Given the description of an element on the screen output the (x, y) to click on. 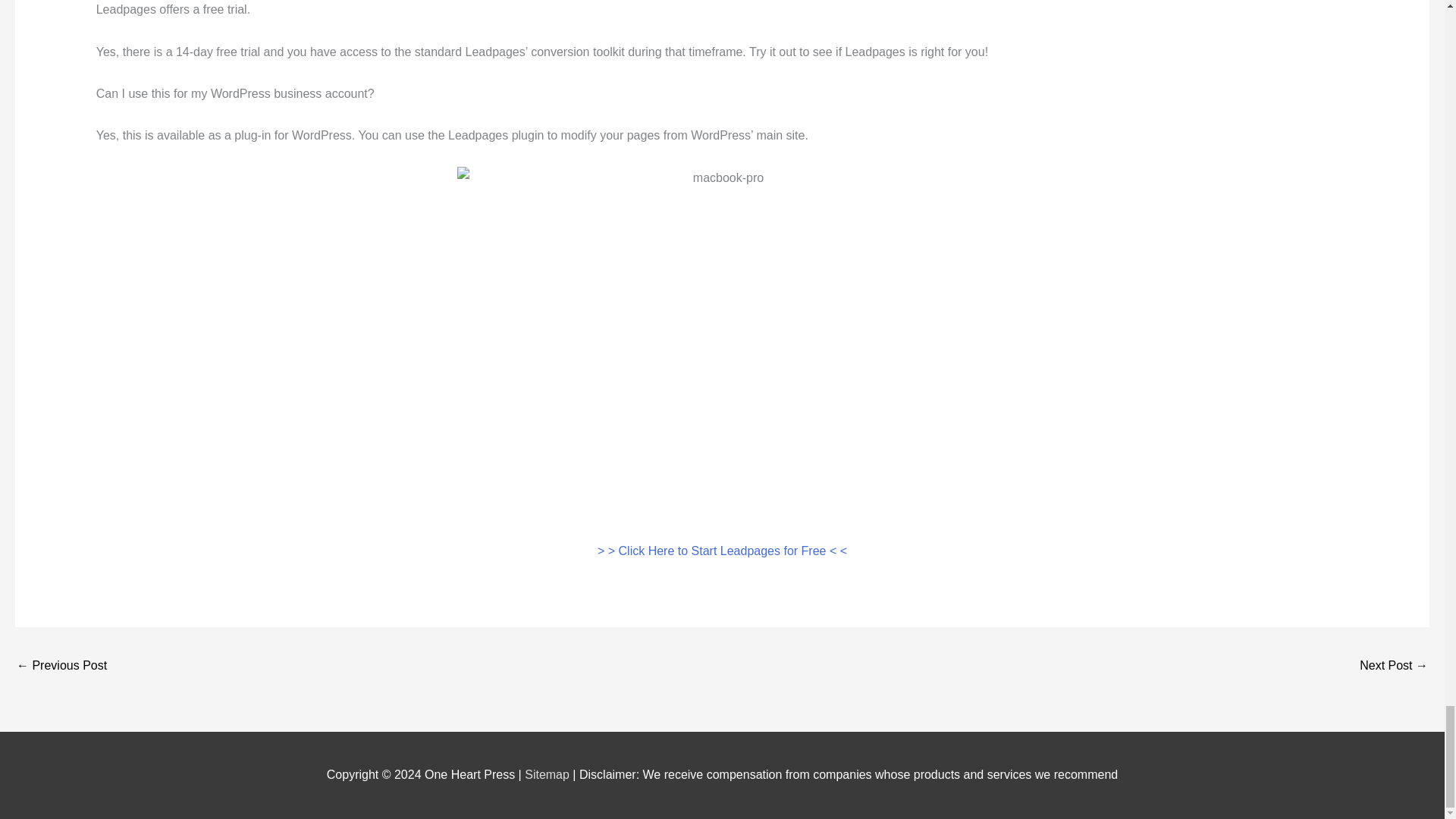
Ttps Orange Leadpages Unsubscribe (61, 666)
Sitemap (548, 774)
Can You Create A Quiz In Leadpages (1393, 666)
